Given the description of an element on the screen output the (x, y) to click on. 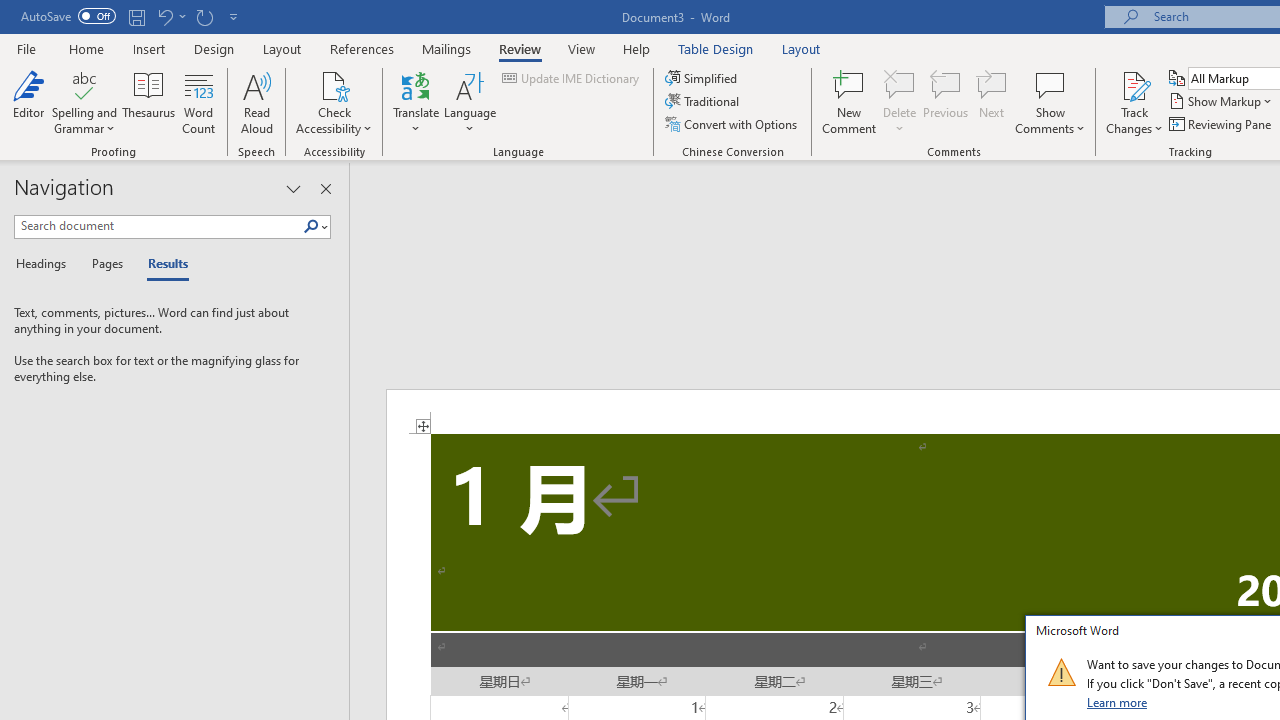
Read Aloud (256, 102)
Insert (149, 48)
Table Design (715, 48)
Headings (45, 264)
Design (214, 48)
Pages (105, 264)
Task Pane Options (293, 188)
Undo Apply Quick Style (170, 15)
References (362, 48)
Class: NetUIImage (1061, 671)
File Tab (26, 48)
New Comment (849, 102)
Track Changes (1134, 84)
